Given the description of an element on the screen output the (x, y) to click on. 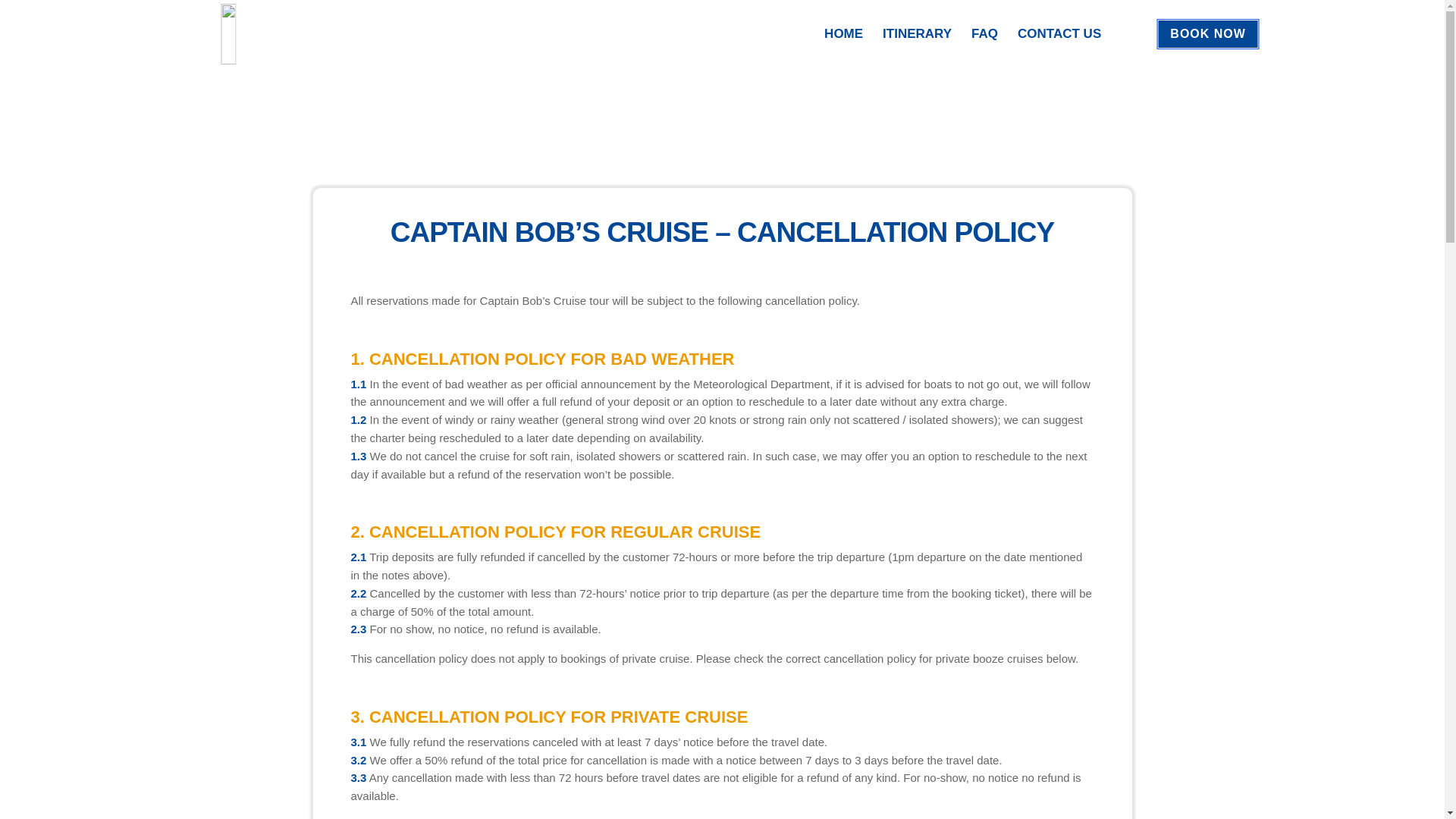
CONTACT US (1059, 34)
BOOK NOW (1208, 34)
ITINERARY (916, 34)
